Given the description of an element on the screen output the (x, y) to click on. 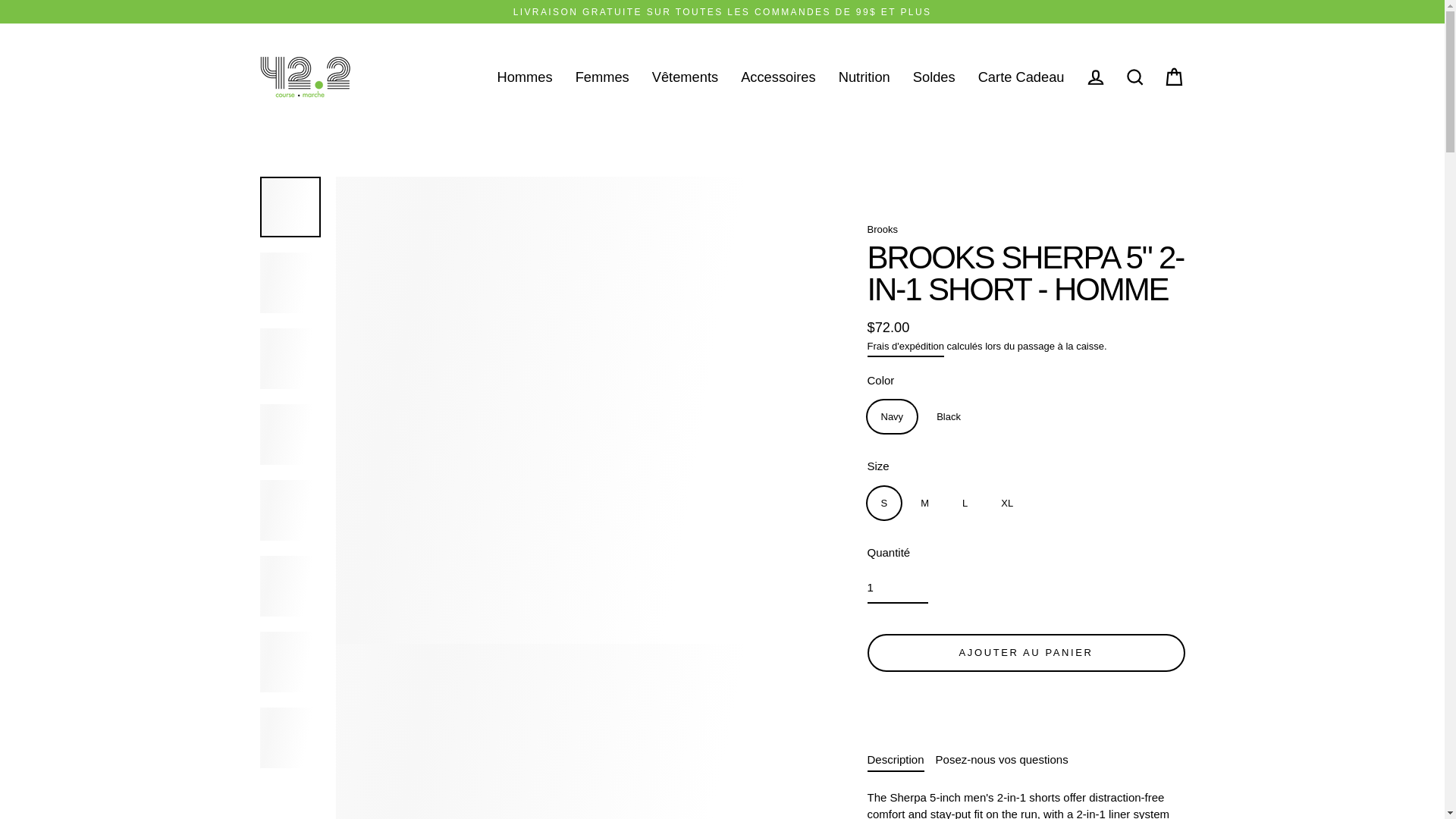
Soldes Element type: text (933, 77)
Nutrition Element type: text (864, 77)
Description Element type: text (895, 758)
Accessoires Element type: text (778, 77)
Femmes Element type: text (602, 77)
Hommes Element type: text (524, 77)
Passer au contenu Element type: text (0, 0)
Se connecter Element type: text (1094, 76)
Rechercher Element type: text (1134, 76)
Panier Element type: text (1173, 76)
Posez-nous vos questions Element type: text (1001, 758)
AJOUTER AU PANIER Element type: text (1026, 652)
Carte Cadeau Element type: text (1021, 77)
